Given the description of an element on the screen output the (x, y) to click on. 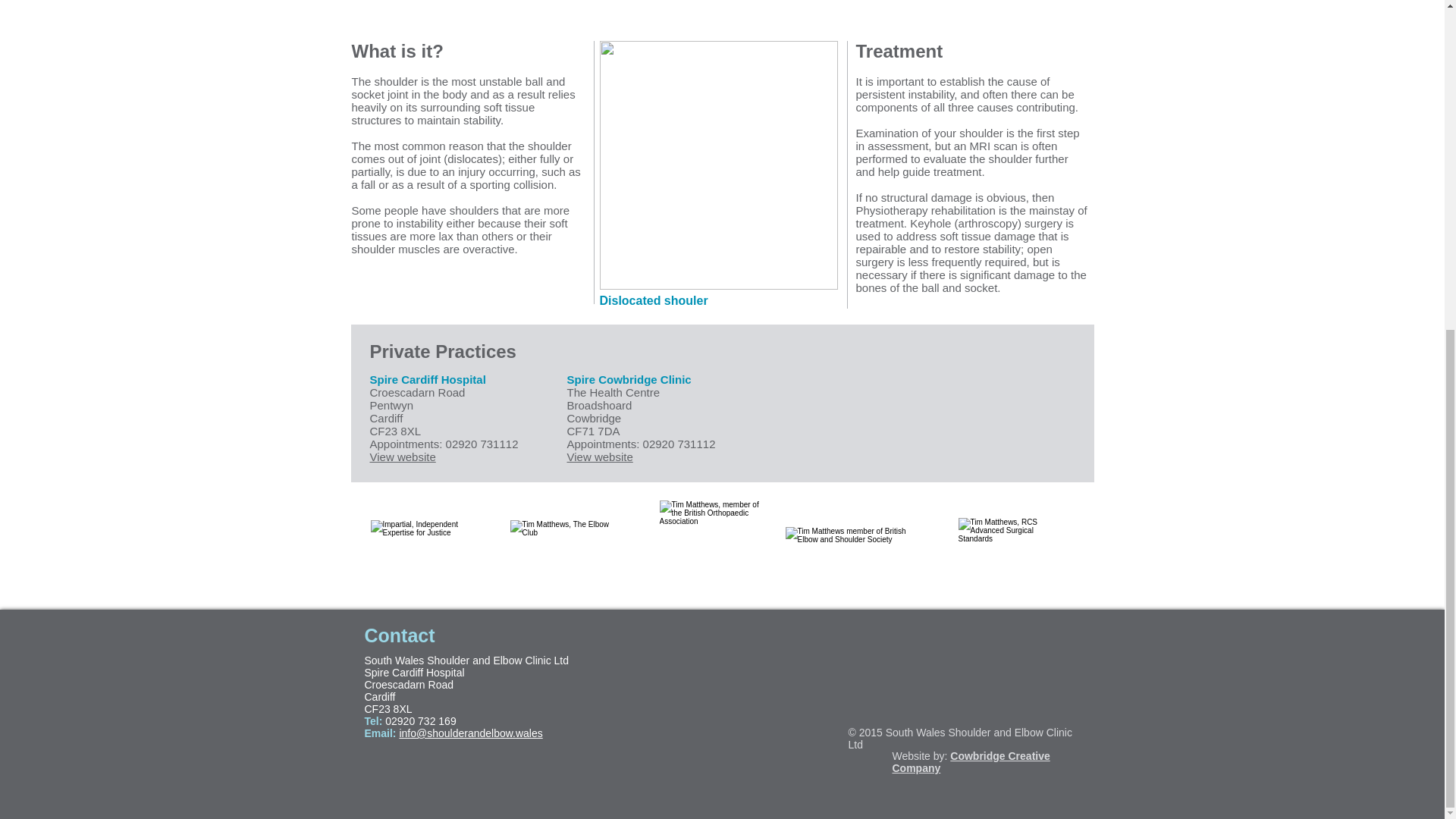
British Elbow and Shoulder Society logo (850, 548)
RCS Advanced Surgical Standards (1010, 547)
Rugby (721, 11)
The Elbow Club (563, 549)
View website (600, 456)
Cowbridge Creative Company (970, 761)
View website (402, 456)
British Orthopaedic Association logo (709, 548)
EWI (426, 554)
